Given the description of an element on the screen output the (x, y) to click on. 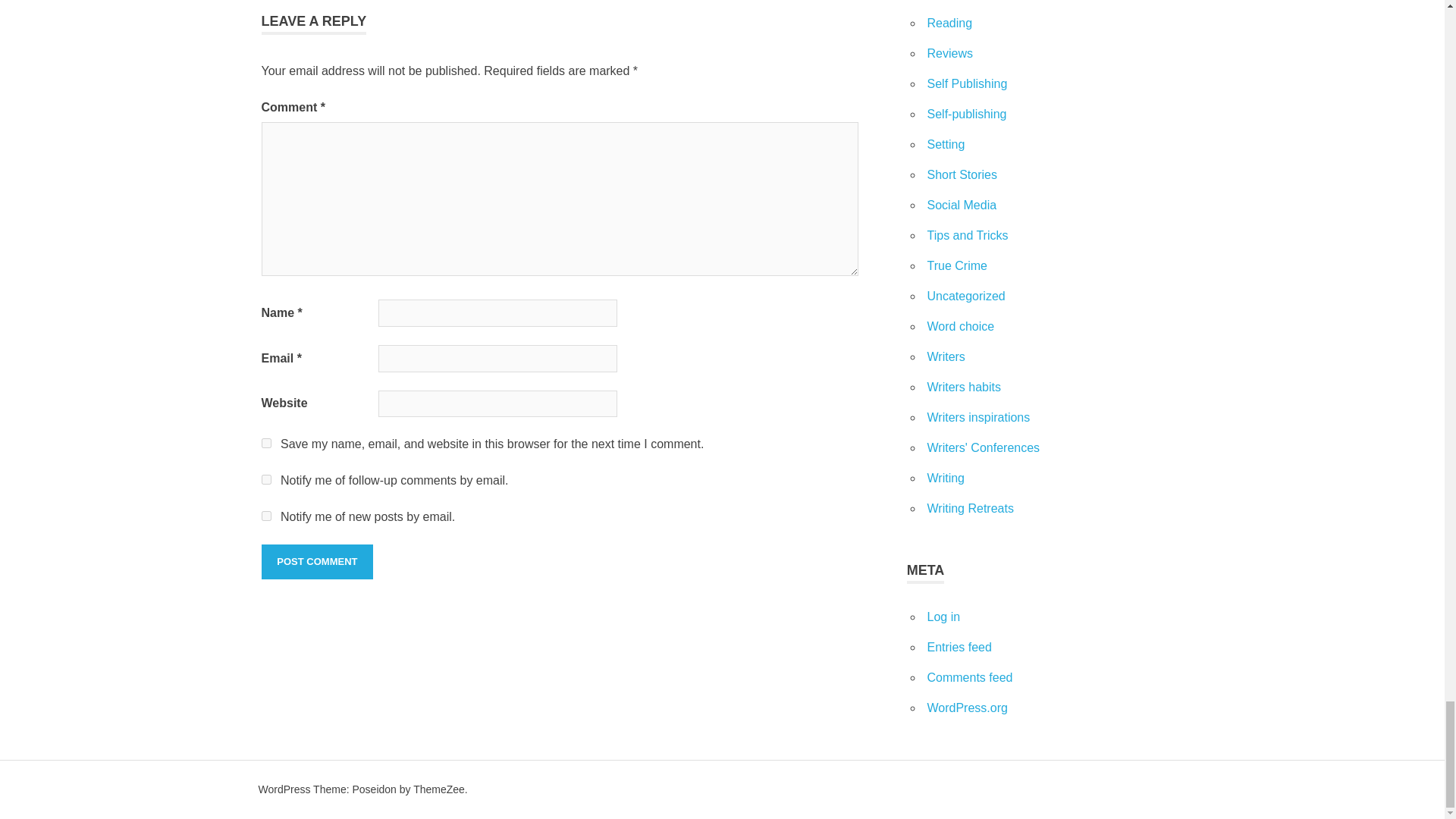
subscribe (265, 515)
yes (265, 442)
subscribe (265, 479)
Post Comment (316, 561)
